Given the description of an element on the screen output the (x, y) to click on. 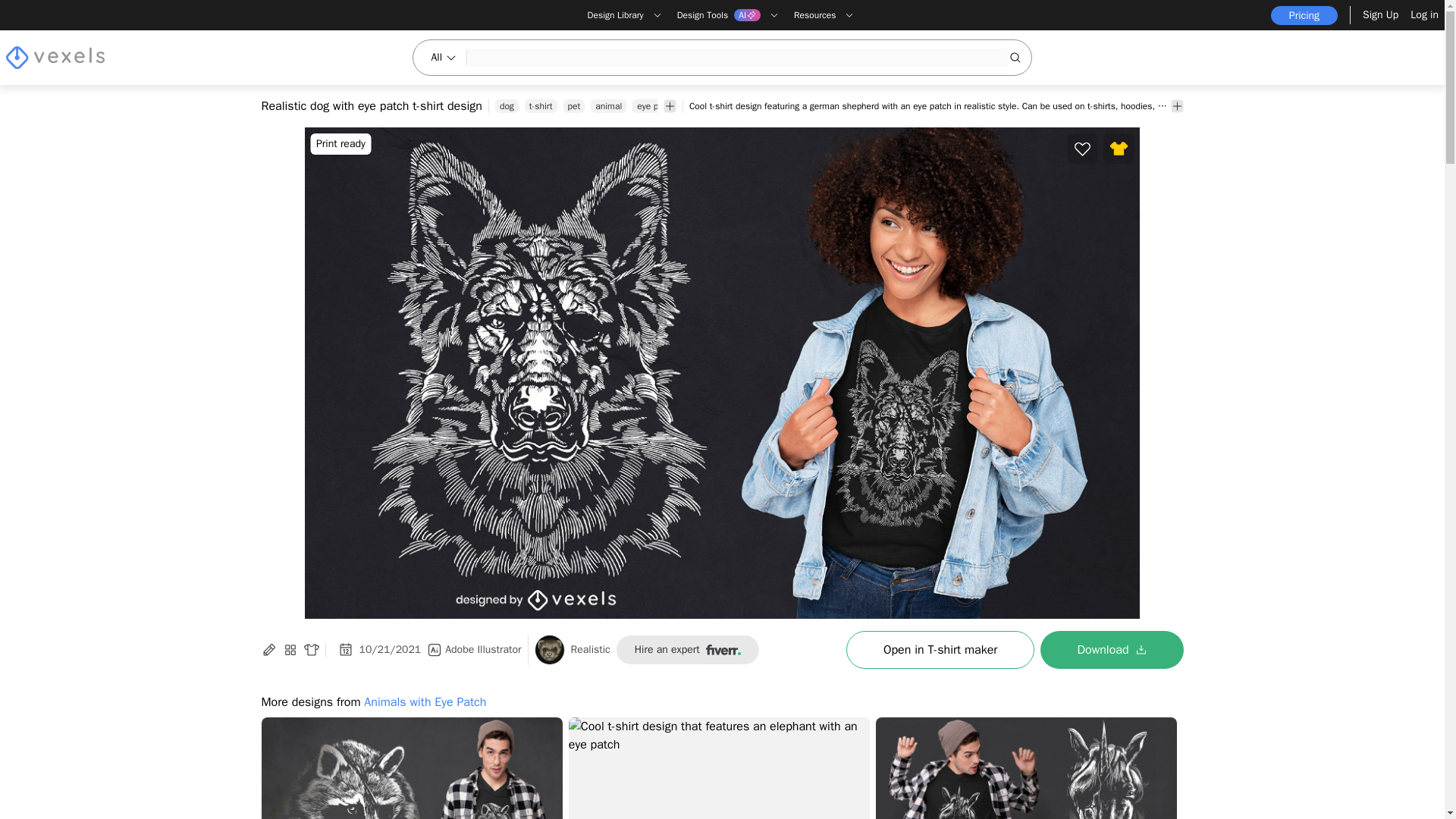
Pricing (1304, 15)
